Given the description of an element on the screen output the (x, y) to click on. 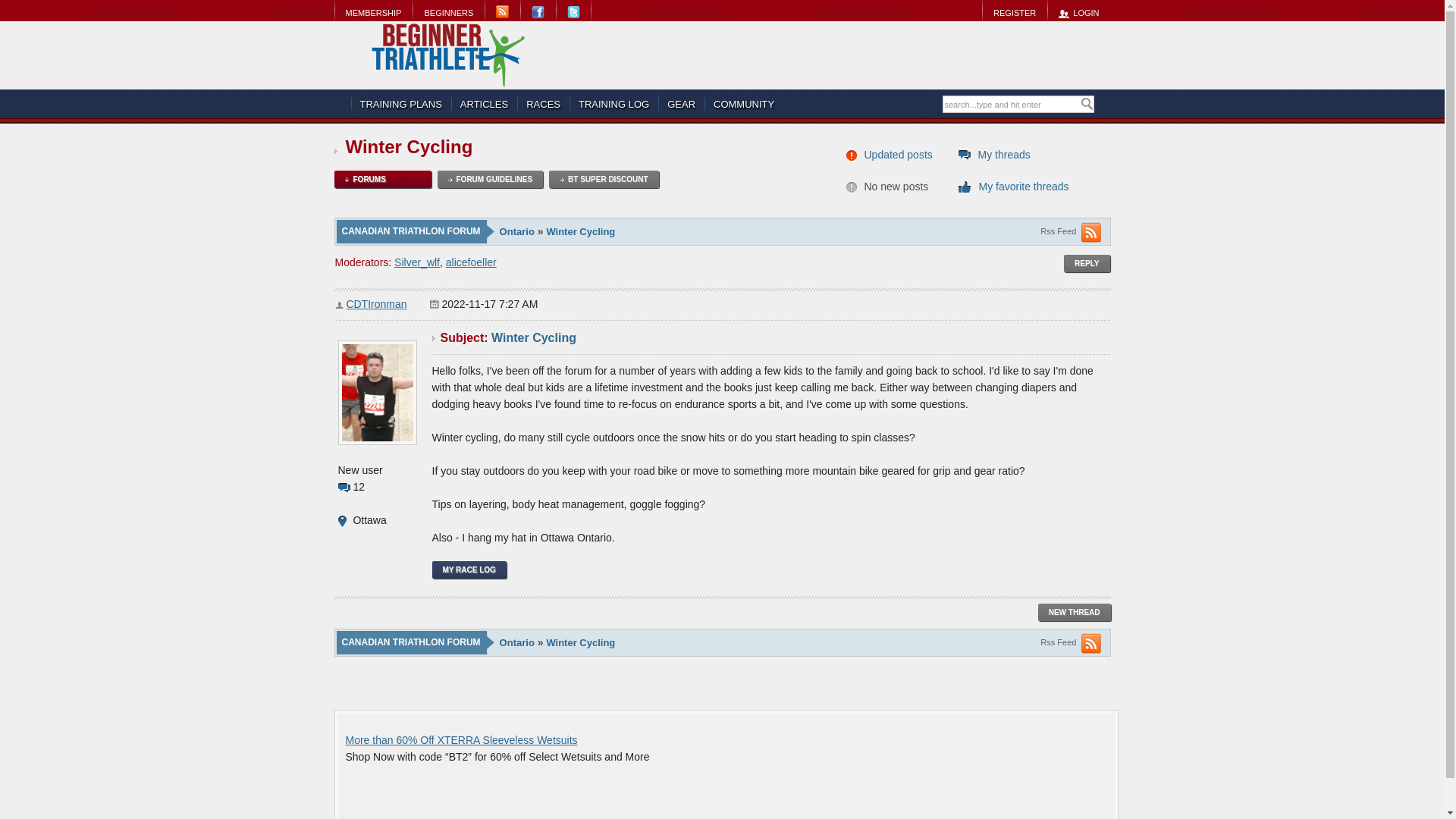
LOGIN (1077, 12)
BEGINNERS (448, 12)
MEMBERSHIP (372, 12)
TRAINING PLANS (400, 104)
RACES (542, 104)
search...type and hit enter (1010, 104)
REGISTER (1013, 12)
ARTICLES (484, 104)
TRAINING LOG (613, 104)
